Given the description of an element on the screen output the (x, y) to click on. 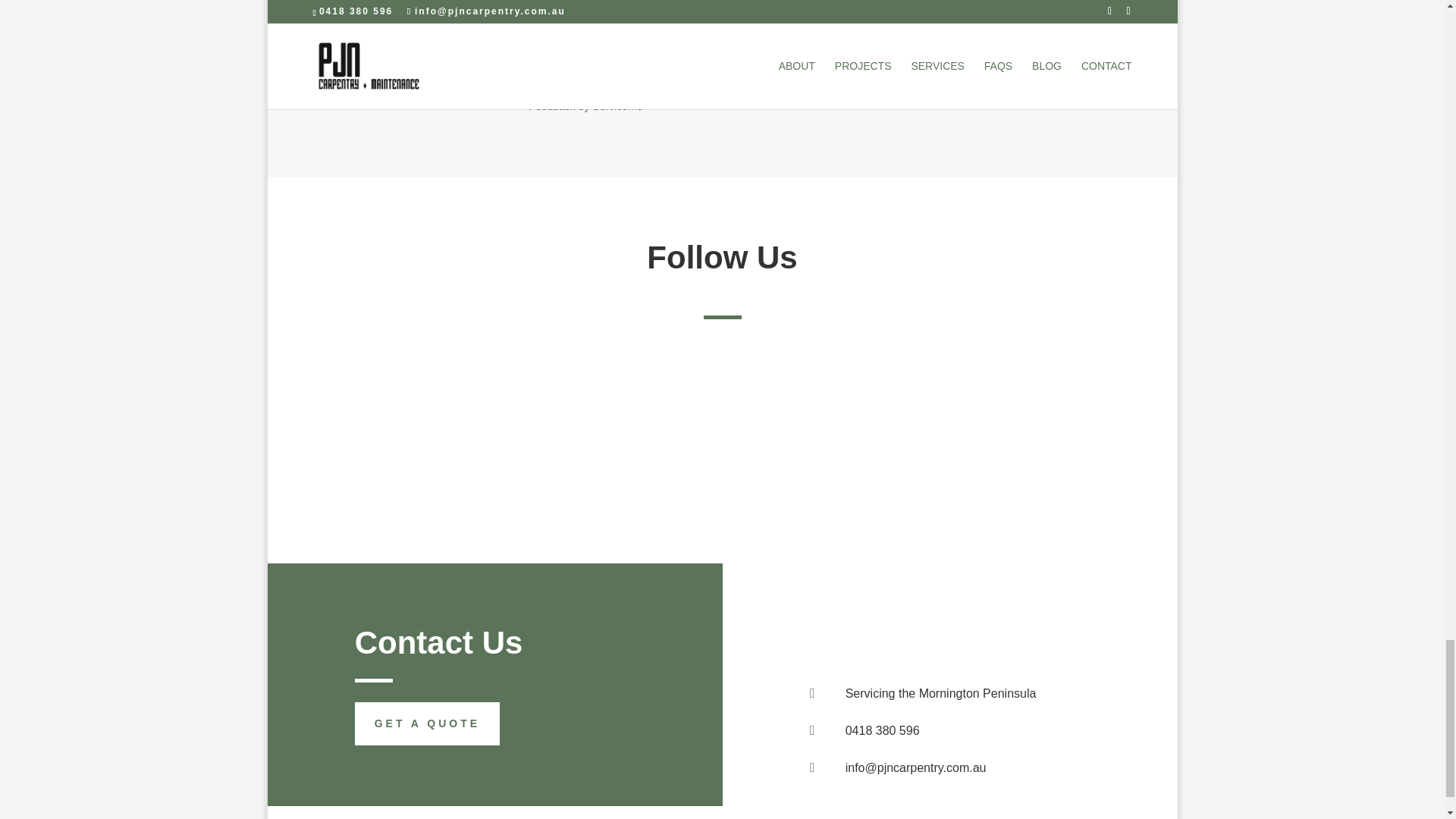
ServiceM8 (617, 105)
GET A QUOTE (427, 722)
